Given the description of an element on the screen output the (x, y) to click on. 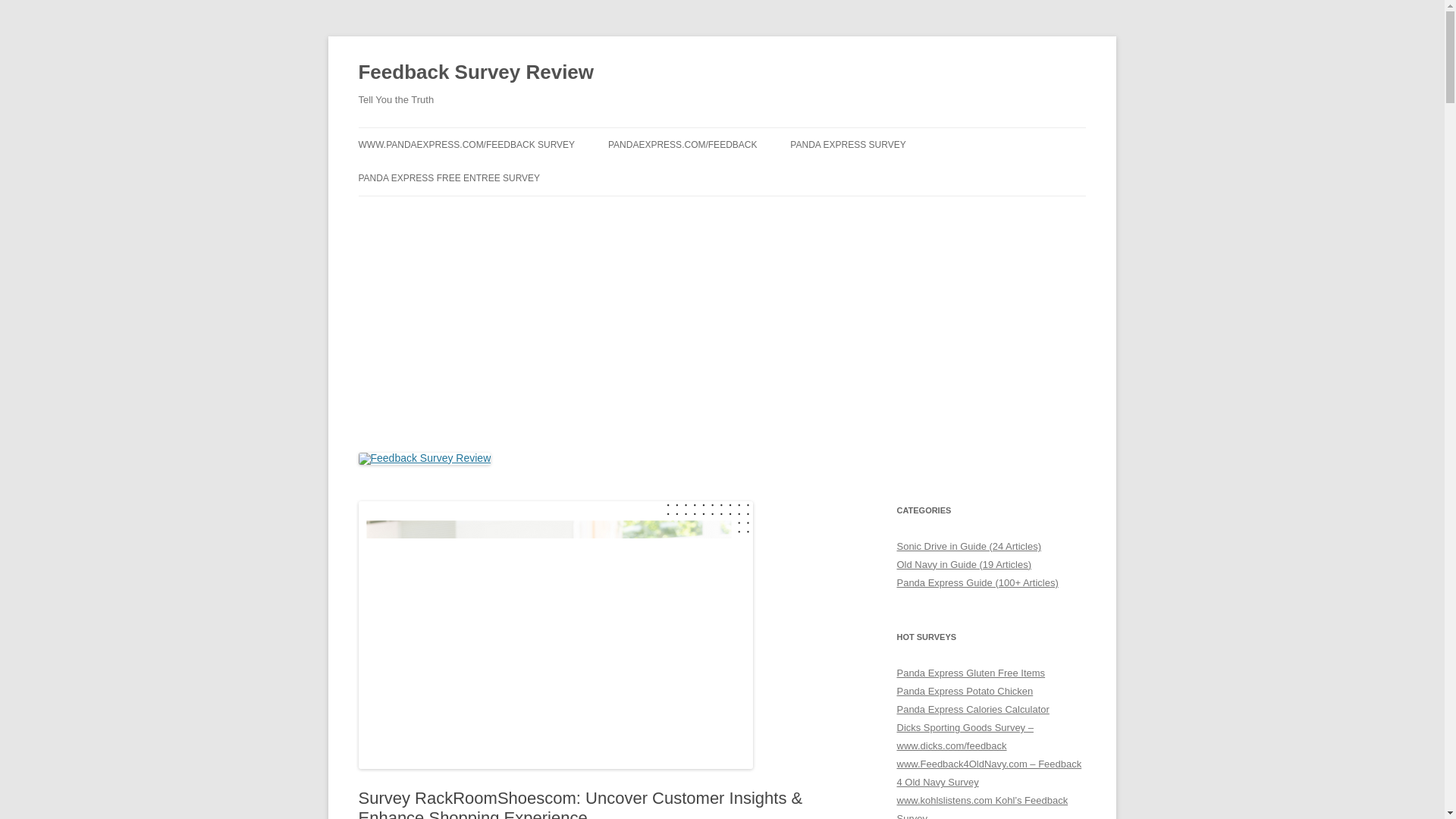
Feedback Survey Review (476, 72)
PANDA EXPRESS FREE ENTREE SURVEY (449, 177)
PANDA EXPRESS SURVEY (847, 144)
